Given the description of an element on the screen output the (x, y) to click on. 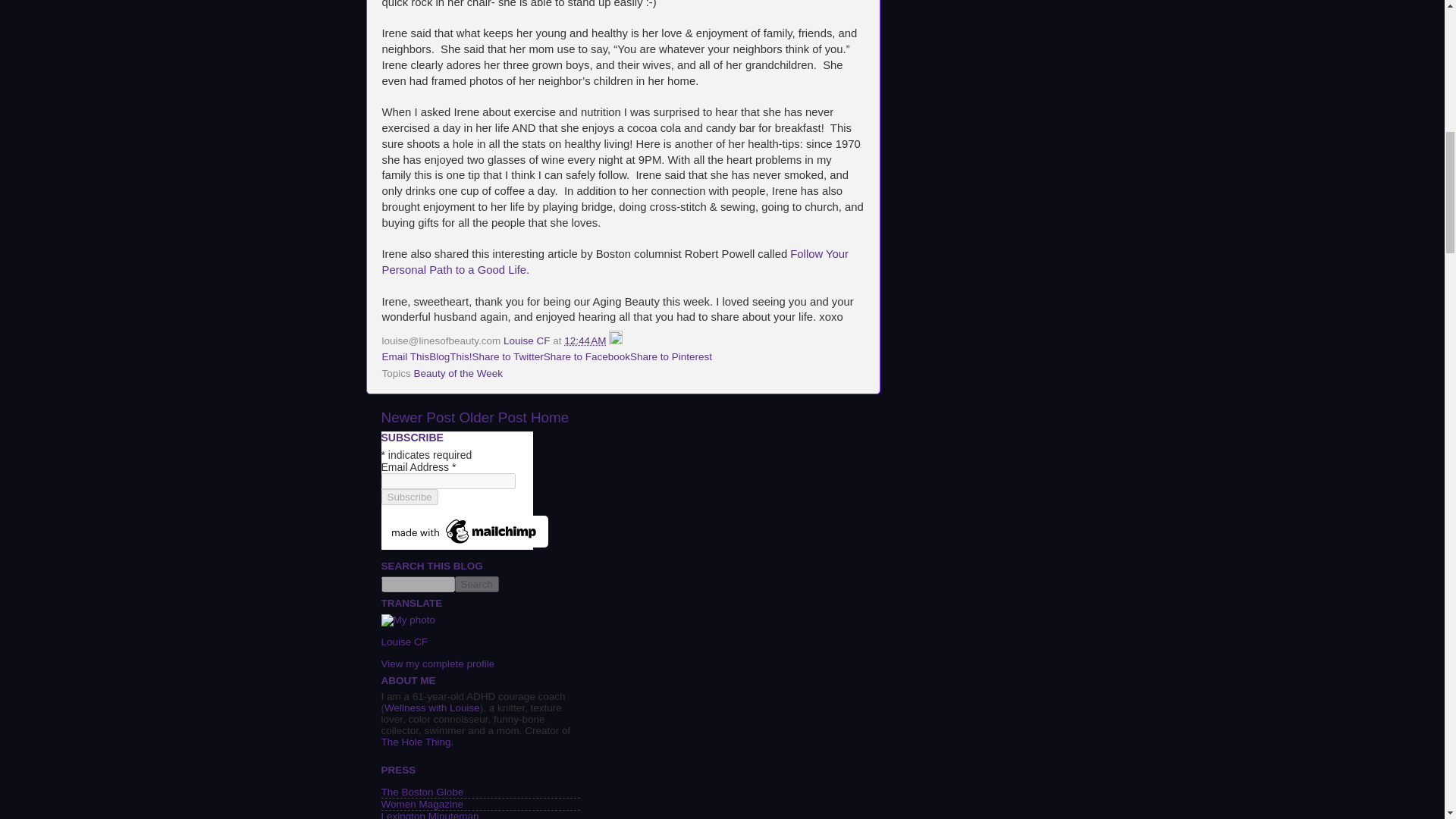
Edit Post (615, 340)
The Hole Thing. (416, 741)
Home (550, 417)
Newer Post (417, 417)
Subscribe (409, 496)
Newer Post (417, 417)
Older Post (491, 417)
search (476, 584)
Beauty of the Week (458, 373)
Older Post (491, 417)
Search (476, 584)
Follow Your Personal Path to a Good Life.  (614, 262)
Lexington Minuteman (429, 814)
Wellness with Louise (432, 707)
